Given the description of an element on the screen output the (x, y) to click on. 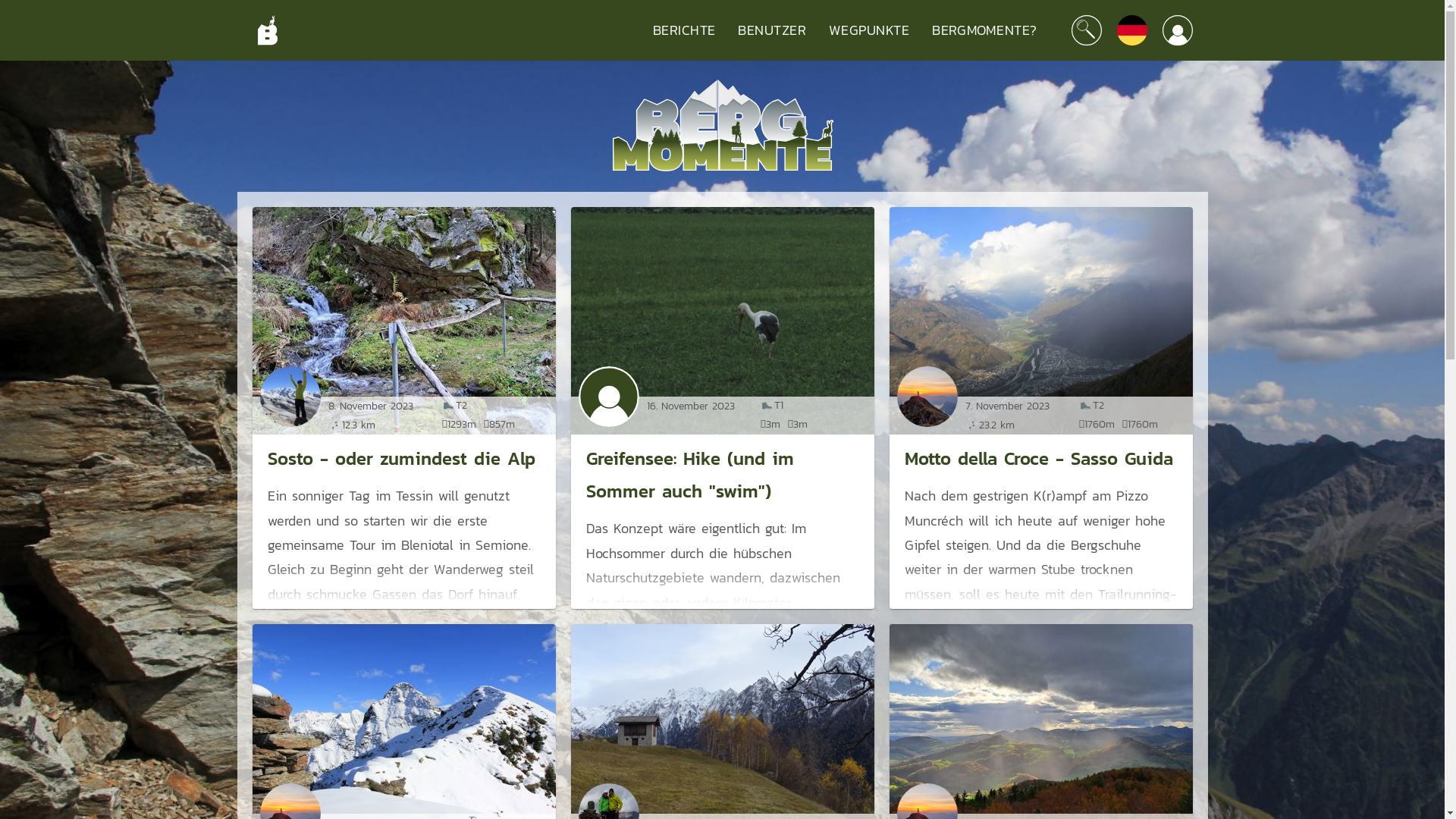
WEGPUNKTE Element type: text (868, 29)
Wandern Element type: hover (766, 405)
Tobi Element type: hover (926, 396)
BENUTZER Element type: text (771, 29)
Wandern Element type: hover (1085, 405)
ossi Element type: hover (607, 396)
BERICHTE Element type: text (683, 29)
Daniela Element type: hover (289, 396)
Wandern Element type: hover (448, 405)
Distanz Element type: hover (334, 425)
BERGMOMENTE? Element type: text (983, 29)
Distanz Element type: hover (971, 425)
